Given the description of an element on the screen output the (x, y) to click on. 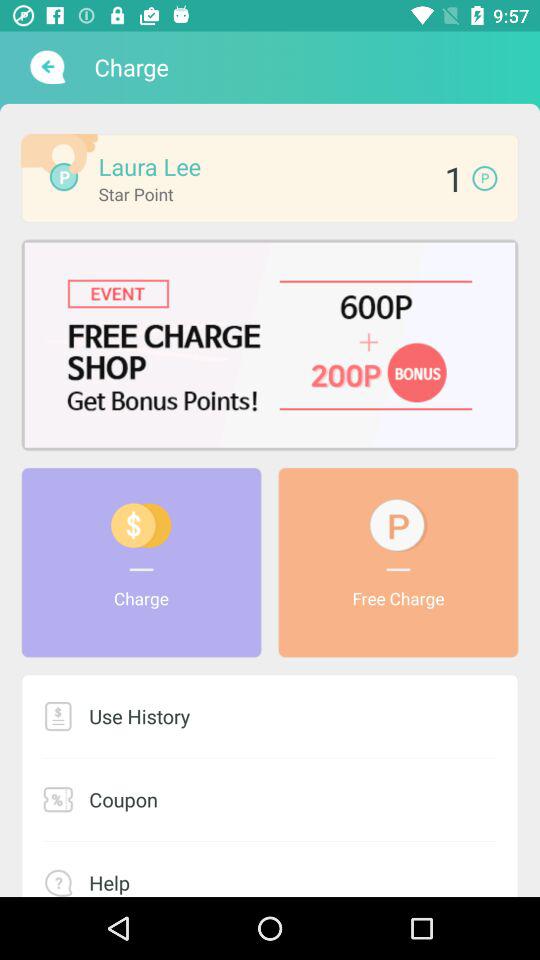
this is a link to a special offer (269, 344)
